Given the description of an element on the screen output the (x, y) to click on. 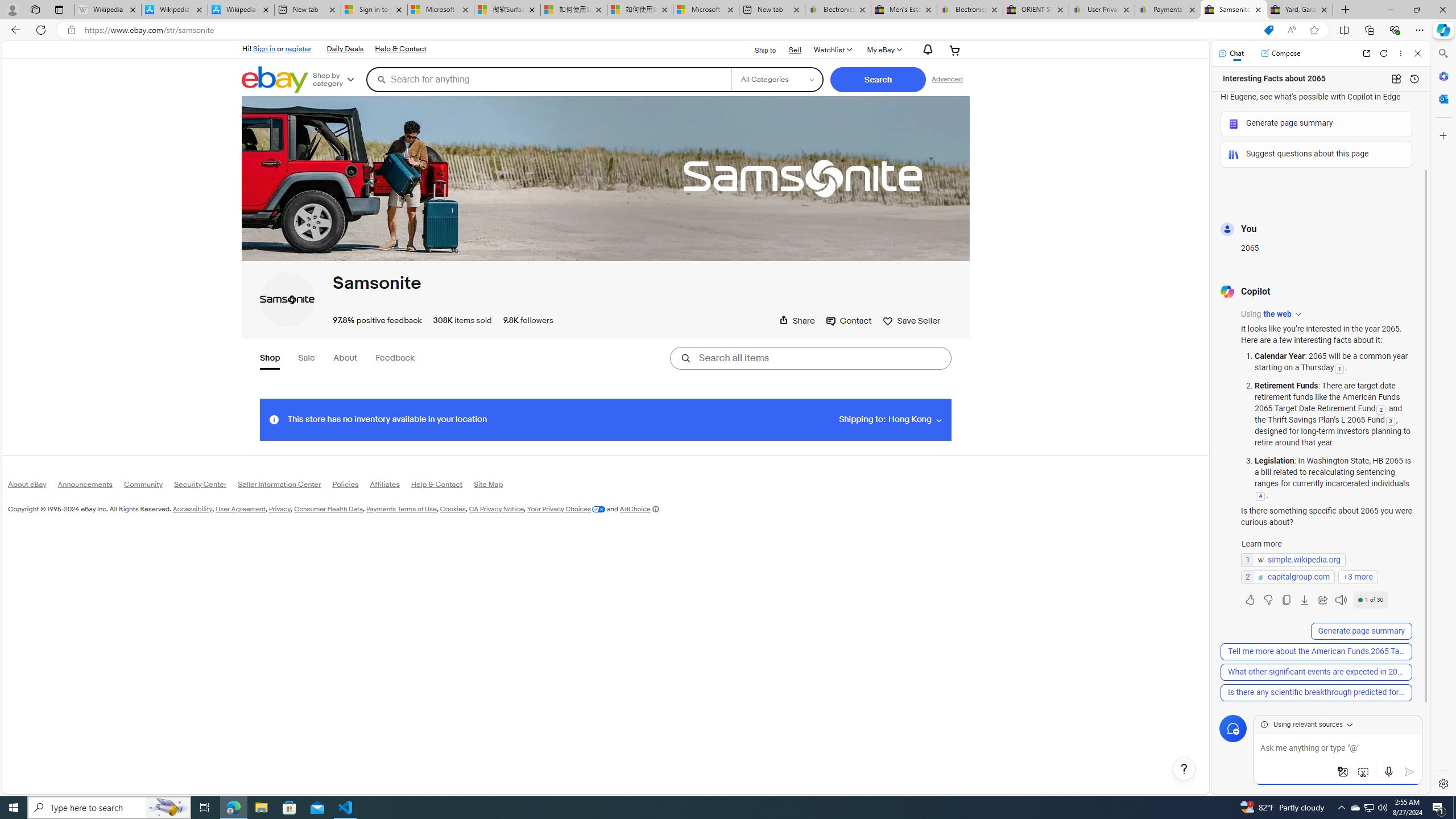
Accessibility (191, 508)
Announcements (89, 486)
eBay Home (274, 79)
Contact (848, 320)
About eBay (32, 486)
Your shopping cart (955, 49)
Watchlist (831, 49)
eBay Home (274, 79)
Search for anything (548, 78)
